Given the description of an element on the screen output the (x, y) to click on. 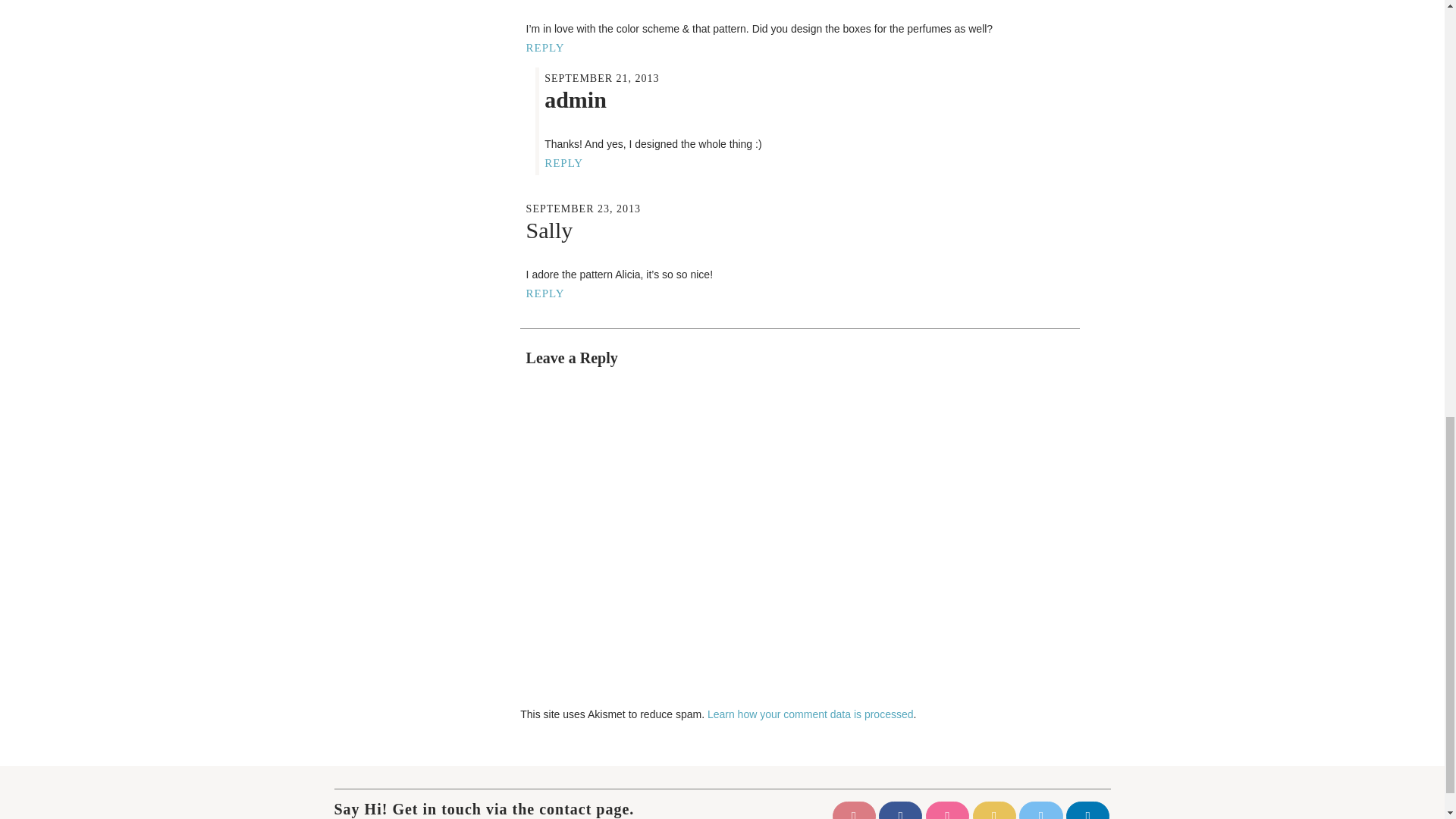
REPLY (544, 293)
REPLY (544, 47)
Learn how your comment data is processed (810, 714)
REPLY (563, 163)
Sally (549, 229)
contact page. (585, 808)
